Given the description of an element on the screen output the (x, y) to click on. 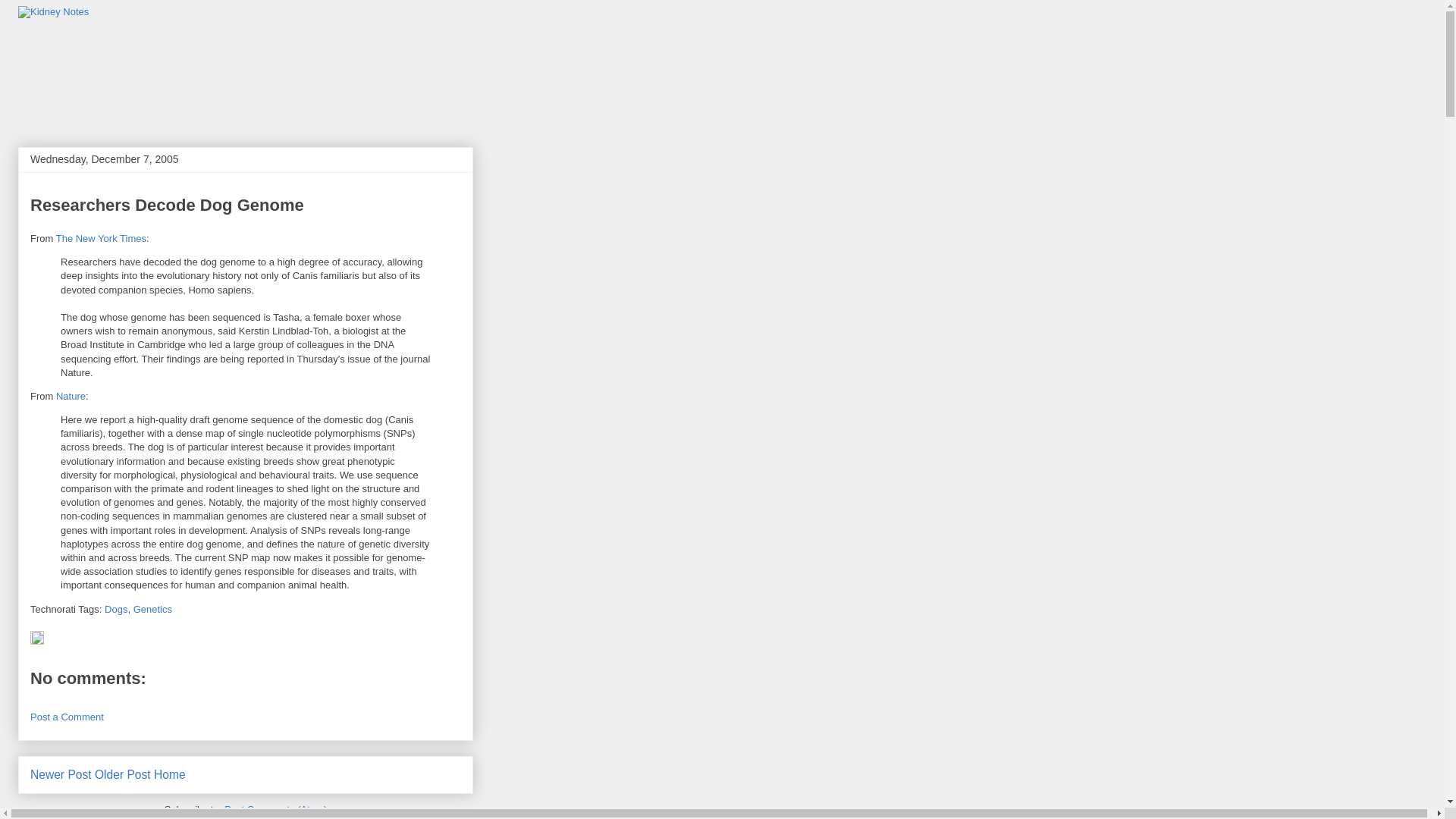
The New York Times (101, 238)
Older Post (122, 774)
Older Post (122, 774)
Genetics (152, 609)
Dogs (116, 609)
Home (170, 774)
Edit Post (36, 641)
Researchers Decode Dog Genome (167, 204)
Nature (70, 396)
Newer Post (60, 774)
Post a Comment (66, 716)
Newer Post (60, 774)
